Given the description of an element on the screen output the (x, y) to click on. 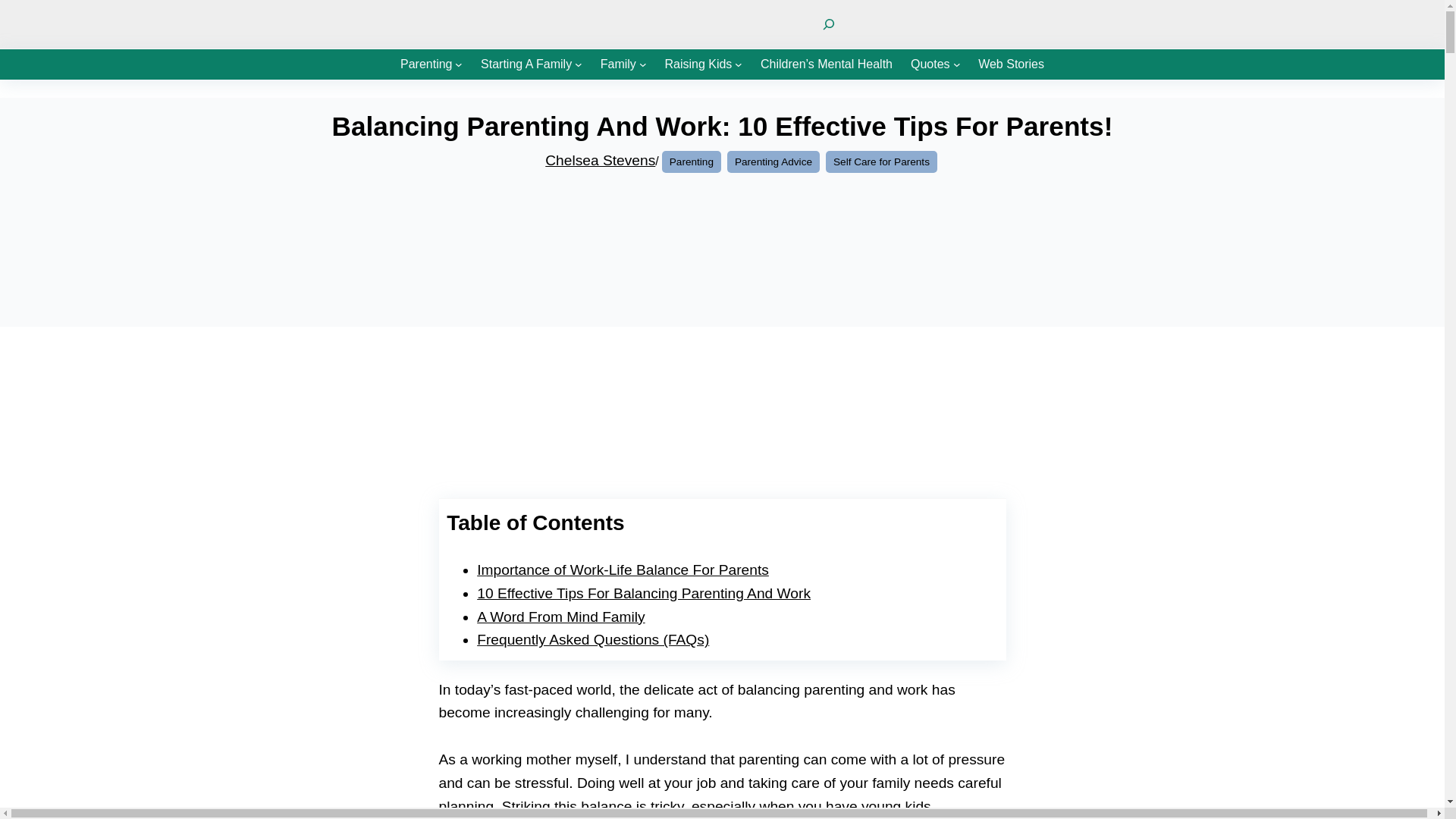
Parenting (426, 64)
